Given the description of an element on the screen output the (x, y) to click on. 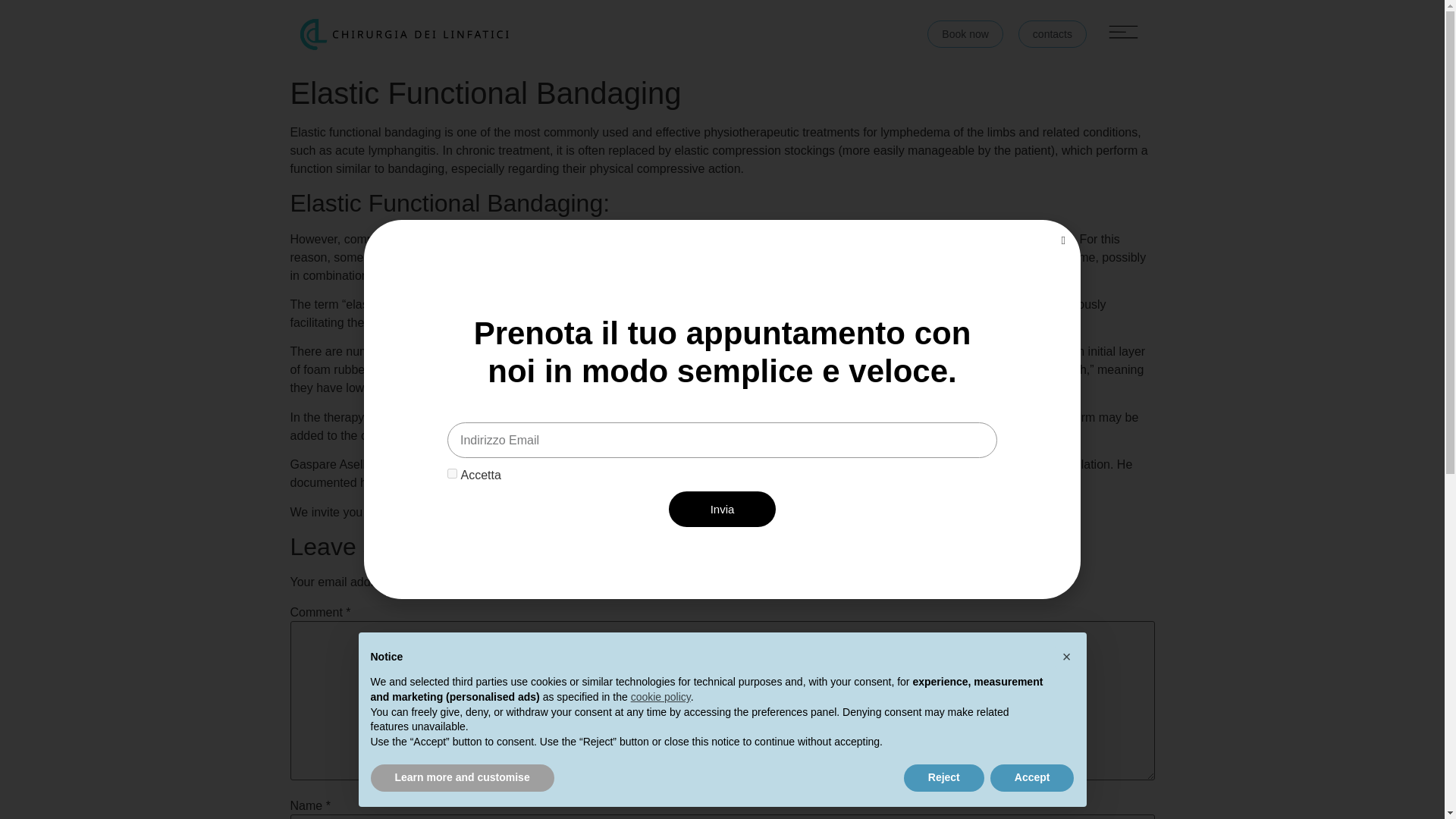
Book now (965, 33)
Lymphaticsurgery (524, 512)
on (451, 473)
Invia (722, 509)
cookie policy (660, 696)
contacts (1051, 33)
